Given the description of an element on the screen output the (x, y) to click on. 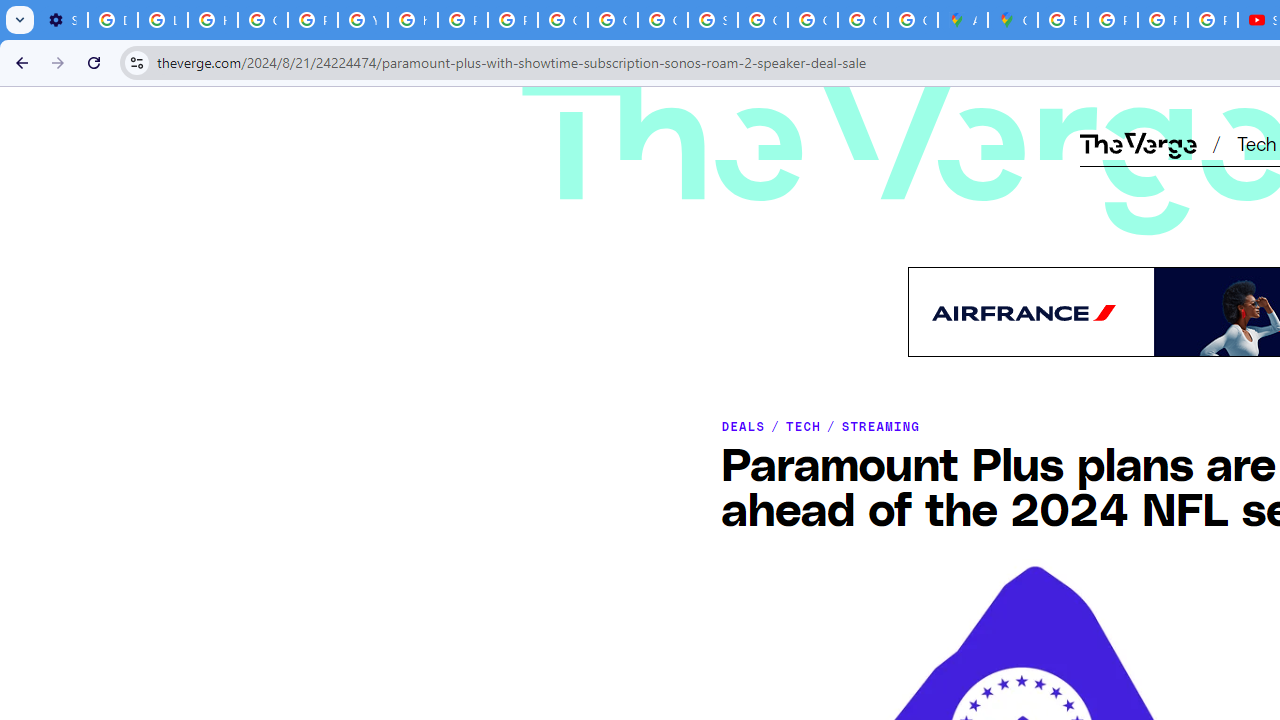
STREAMING (880, 425)
Privacy Help Center - Policies Help (1162, 20)
Privacy Help Center - Policies Help (312, 20)
Learn how to find your photos - Google Photos Help (163, 20)
